Given the description of an element on the screen output the (x, y) to click on. 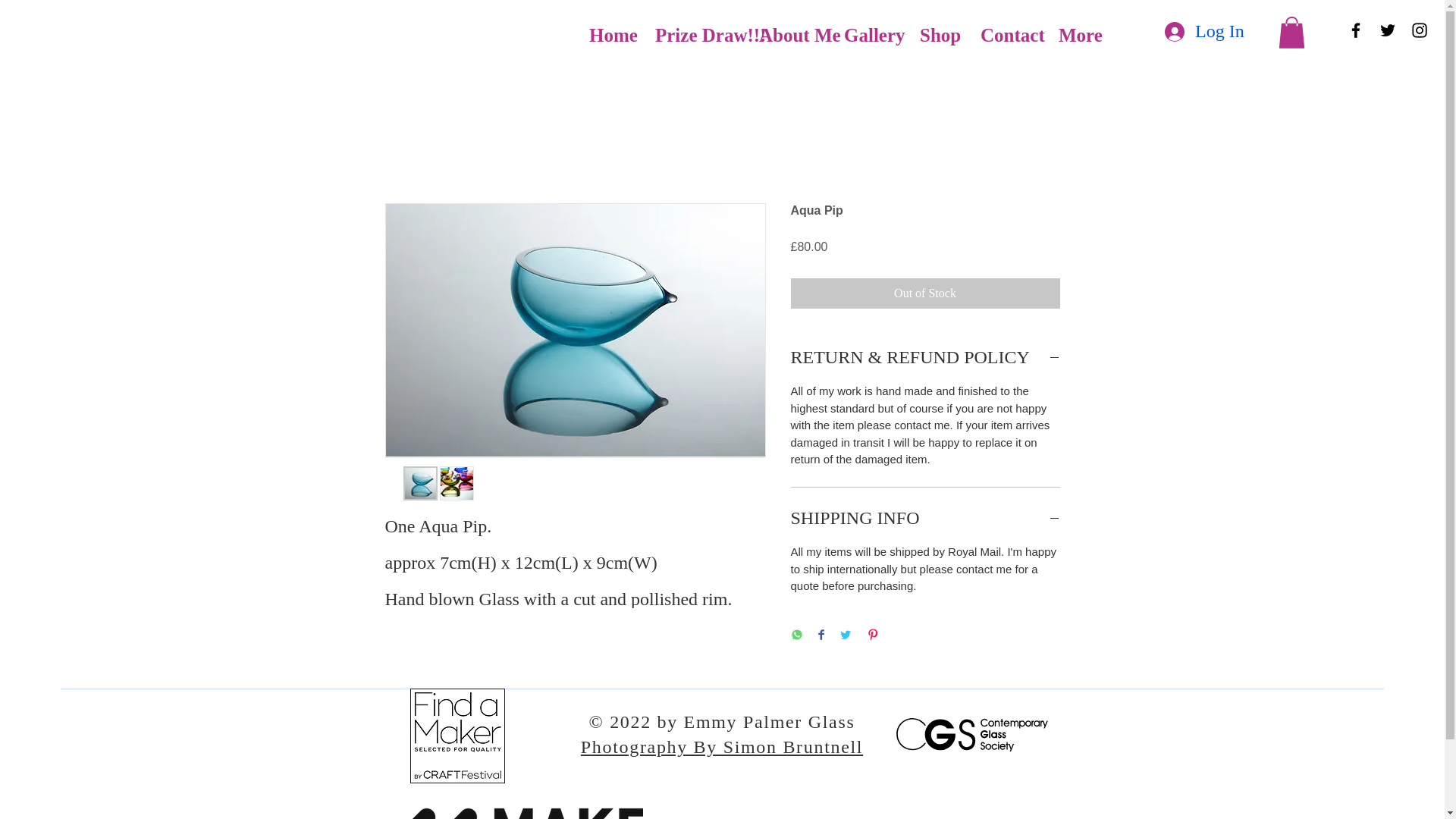
Out of Stock (924, 293)
Photography By Simon Bruntnell (721, 746)
Gallery (869, 35)
Log In (1199, 31)
Contact (1007, 35)
SHIPPING INFO (924, 518)
About Me (788, 35)
Shop (937, 35)
Home (610, 35)
Prize Draw!!! (694, 35)
